Given the description of an element on the screen output the (x, y) to click on. 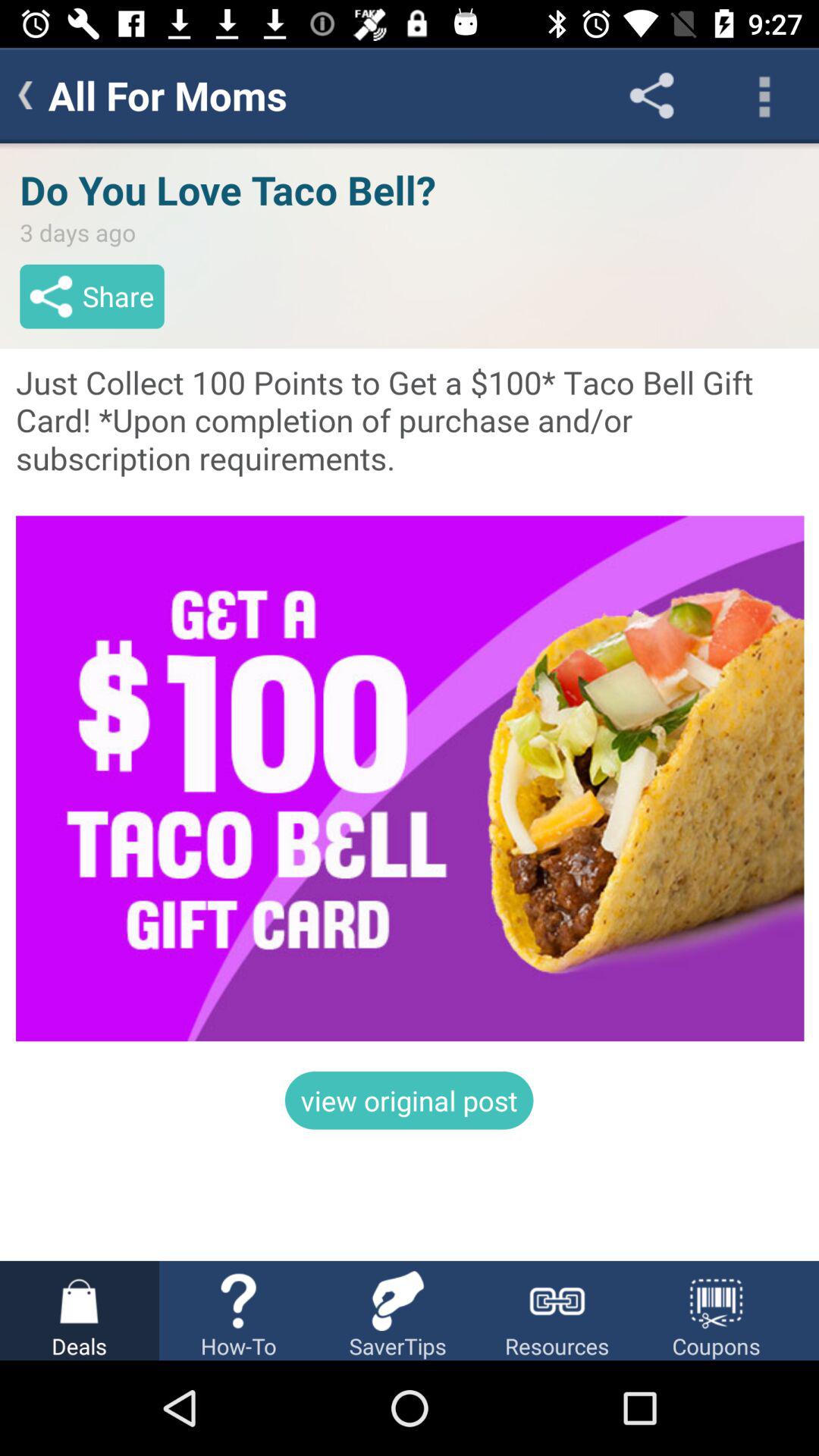
click on share icon (651, 95)
click on the text view original post (409, 1100)
select    icon which is above howto on a page (238, 1300)
select the icon left to the icon howto (78, 1300)
